Given the description of an element on the screen output the (x, y) to click on. 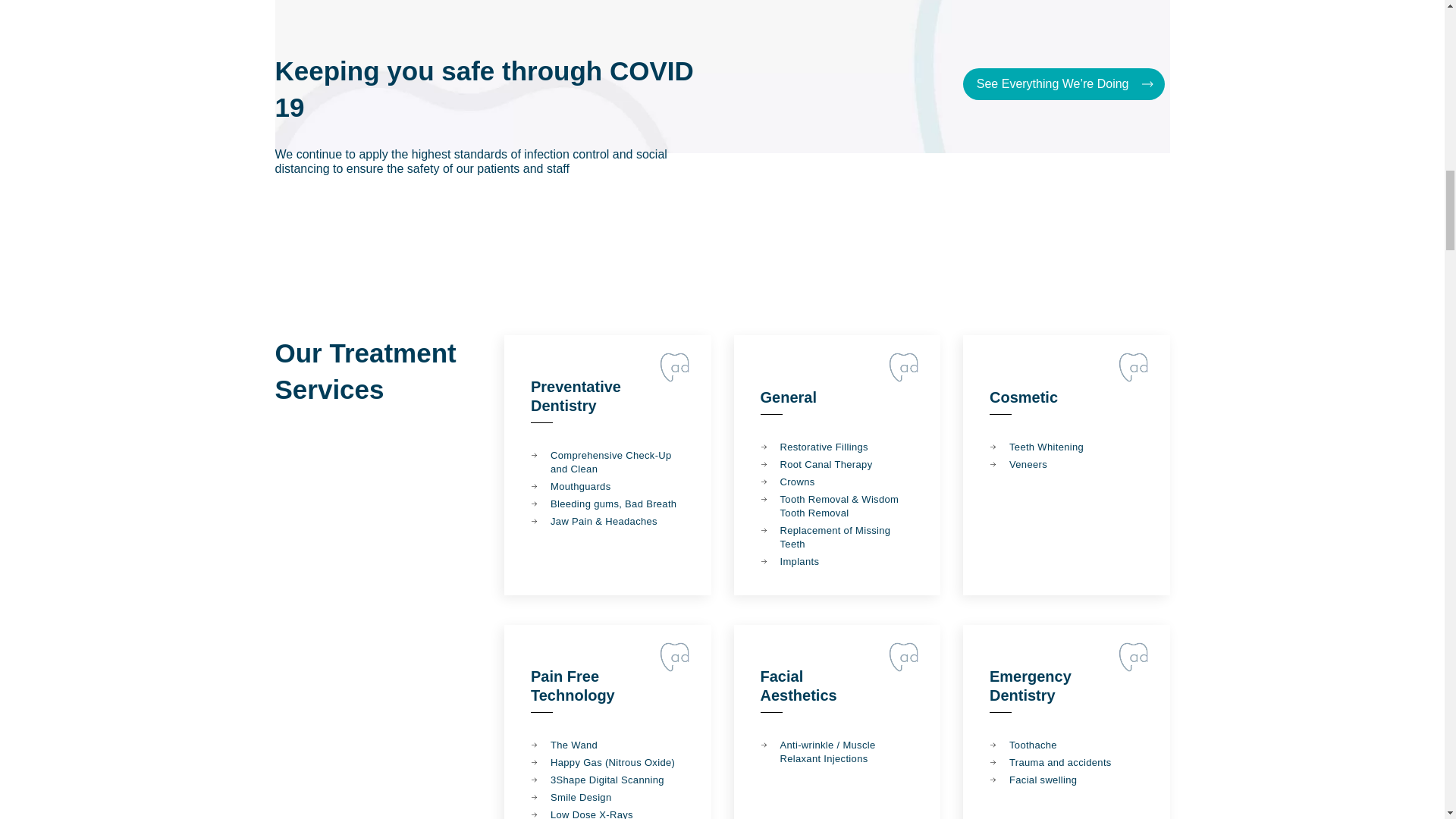
Preventative Dentistry (576, 396)
Comprehensive Check-Up and Clean (607, 461)
